Given the description of an element on the screen output the (x, y) to click on. 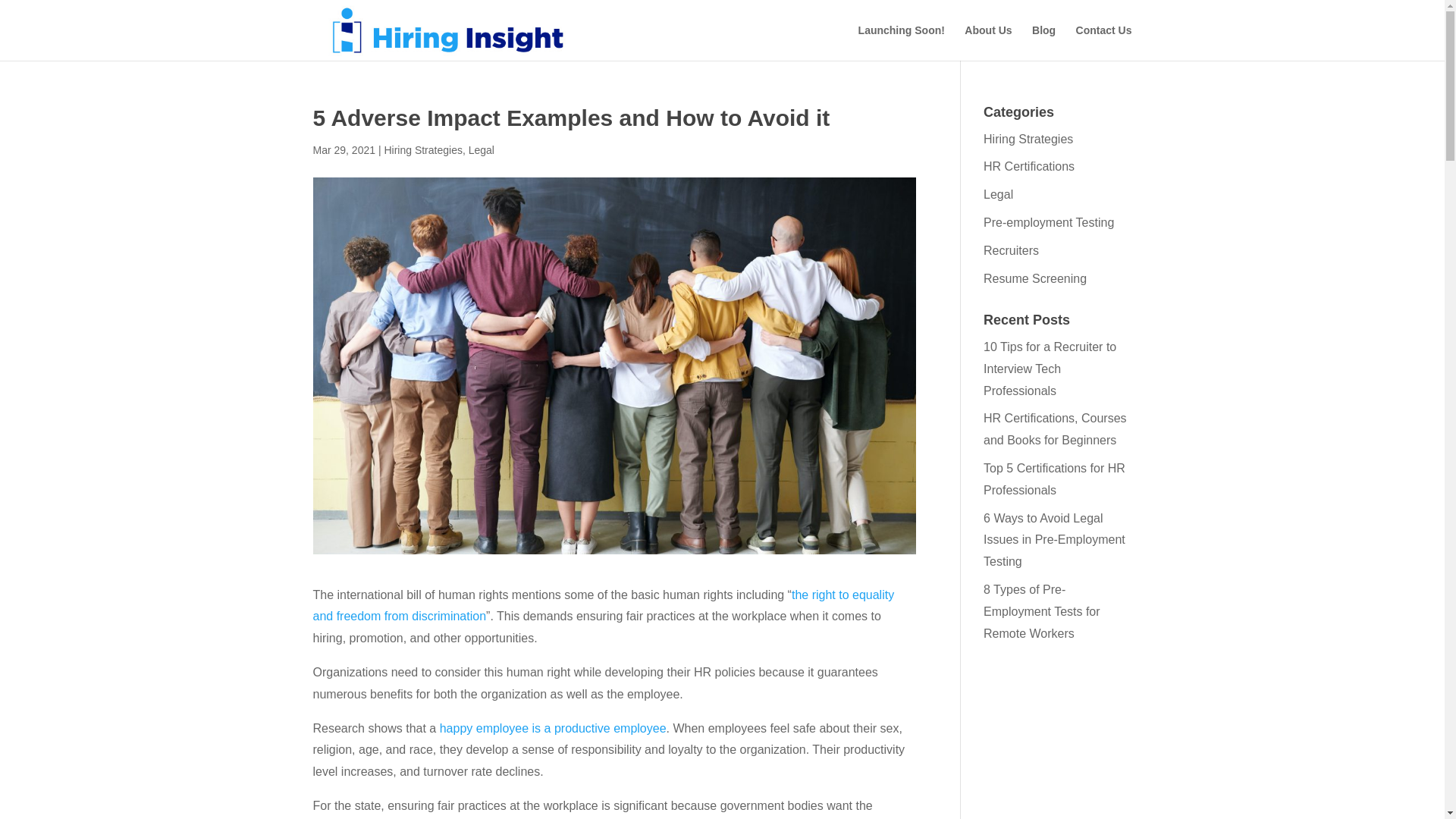
Resume Screening (1035, 278)
Legal (481, 150)
6 Ways to Avoid Legal Issues in Pre-Employment Testing (1054, 539)
Hiring Strategies (1028, 138)
happy employee is a productive employee (552, 727)
Pre-employment Testing (1048, 222)
Recruiters (1011, 250)
HR Certifications, Courses and Books for Beginners (1055, 428)
Legal (998, 194)
10 Tips for a Recruiter to Interview Tech Professionals (1050, 368)
8 Types of Pre-Employment Tests for Remote Workers (1042, 611)
About Us (987, 42)
Hiring Strategies (423, 150)
Launching Soon! (901, 42)
HR Certifications (1029, 165)
